Given the description of an element on the screen output the (x, y) to click on. 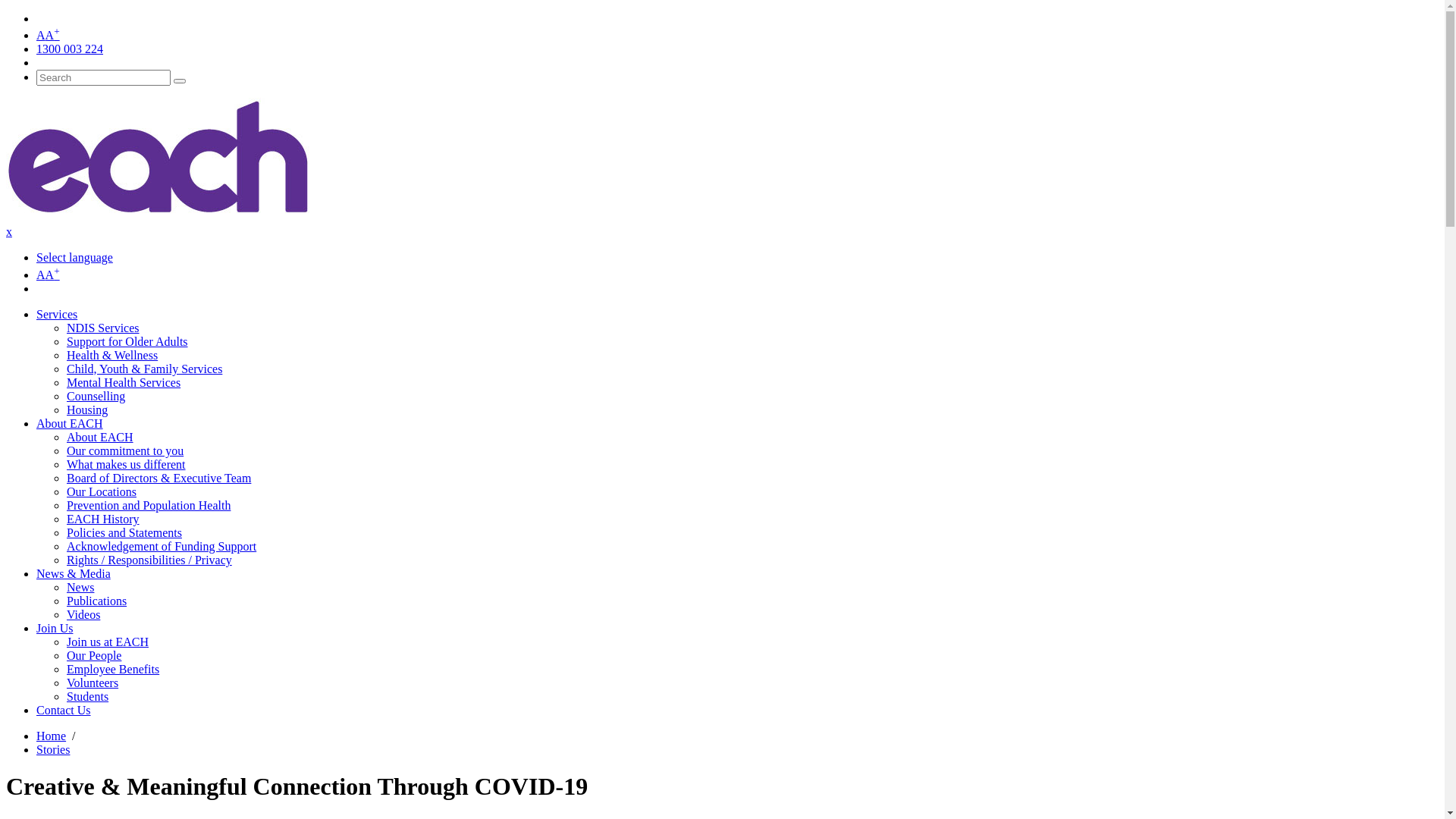
Join us at EACH Element type: text (107, 641)
Rights / Responsibilities / Privacy Element type: text (149, 559)
About EACH Element type: text (99, 436)
Support for Older Adults Element type: text (127, 341)
Health & Wellness Element type: text (111, 354)
Mental Health Services Element type: text (123, 382)
Counselling Element type: text (95, 395)
Our People Element type: text (93, 655)
Acknowledgement of Funding Support Element type: text (161, 545)
What makes us different Element type: text (125, 464)
x Element type: text (9, 231)
NDIS Services Element type: text (102, 327)
Home Element type: text (50, 735)
AA+ Element type: text (47, 274)
Contact Us Element type: text (63, 709)
Employee Benefits Element type: text (112, 668)
Child, Youth & Family Services Element type: text (144, 368)
News & Media Element type: text (73, 573)
Select language Element type: text (74, 257)
Our Locations Element type: text (101, 491)
EACH History Element type: text (102, 518)
Join Us Element type: text (54, 627)
Students Element type: text (87, 696)
Policies and Statements Element type: text (124, 532)
Stories Element type: text (52, 749)
Publications Element type: text (96, 600)
Our commitment to you Element type: text (124, 450)
Prevention and Population Health Element type: text (148, 504)
Volunteers Element type: text (92, 682)
AA+ Element type: text (47, 34)
Housing Element type: text (86, 409)
Board of Directors & Executive Team Element type: text (158, 477)
About EACH Element type: text (69, 423)
Services Element type: text (56, 313)
1300 003 224 Element type: text (69, 48)
Videos Element type: text (83, 614)
News Element type: text (80, 586)
